Given the description of an element on the screen output the (x, y) to click on. 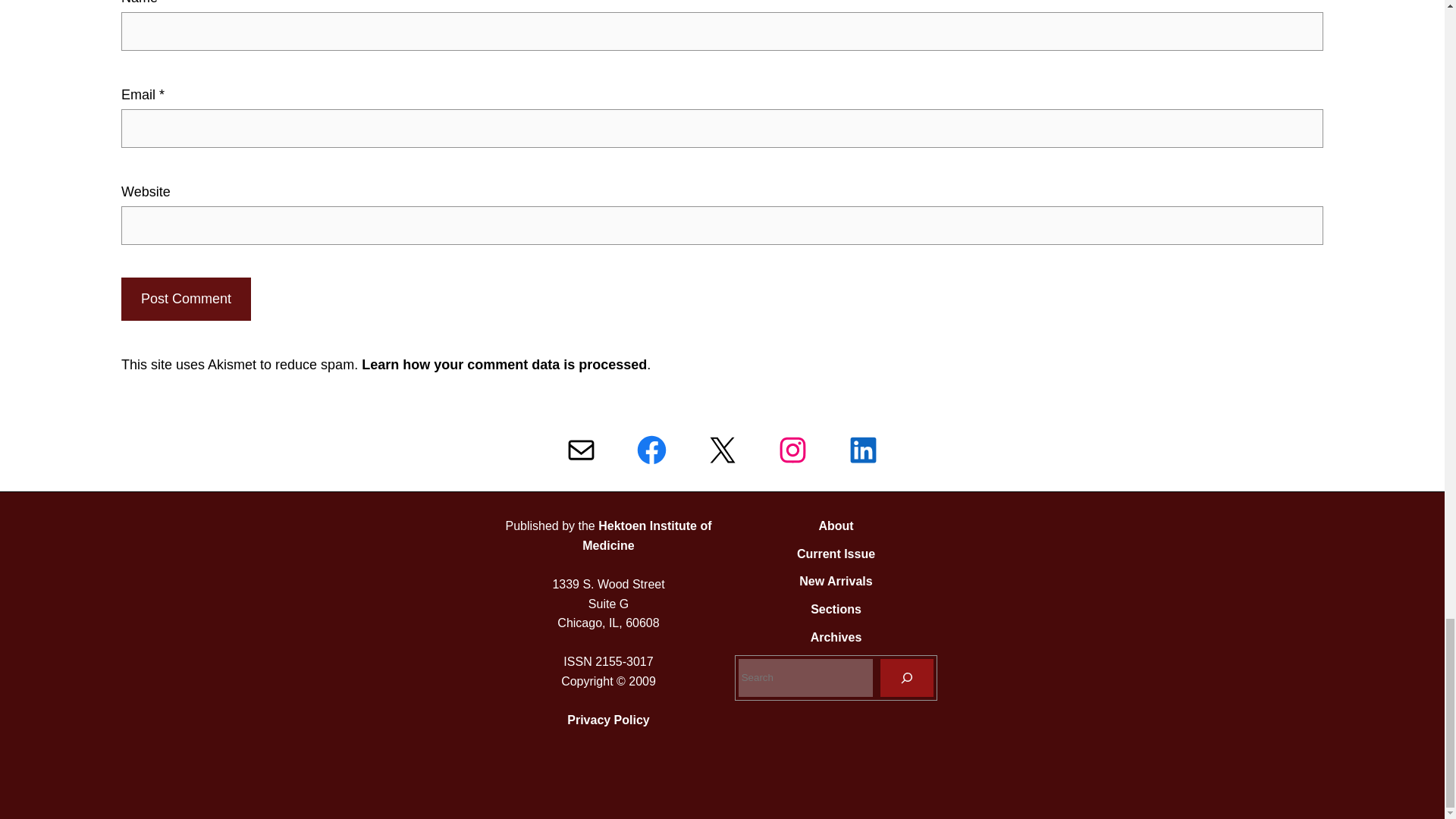
Post Comment (185, 299)
